Given the description of an element on the screen output the (x, y) to click on. 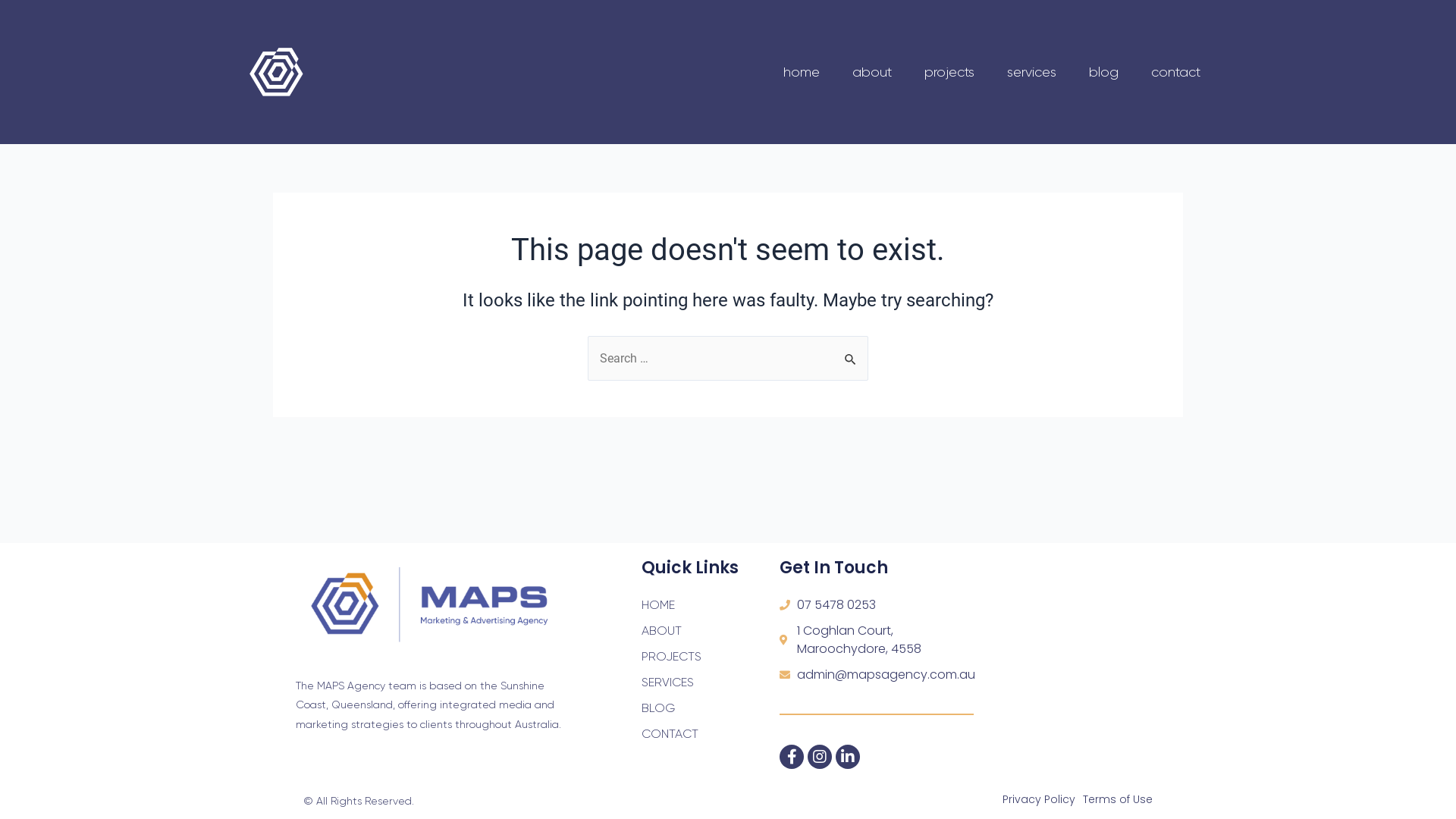
SERVICES Element type: text (710, 682)
Facebook-f Element type: text (791, 756)
Linkedin-in Element type: text (847, 756)
BLOG Element type: text (710, 708)
HOME Element type: text (710, 605)
home Element type: text (801, 71)
Instagram Element type: text (819, 756)
CONTACT Element type: text (710, 733)
ABOUT Element type: text (710, 630)
admin@mapsagency.com.au Element type: text (876, 674)
Privacy Policy Element type: text (1038, 799)
services Element type: text (1031, 71)
Search Element type: text (851, 351)
PROJECTS Element type: text (710, 656)
07 5478 0253 Element type: text (876, 605)
Terms of Use Element type: text (1117, 799)
about Element type: text (871, 71)
blog Element type: text (1103, 71)
projects Element type: text (949, 71)
contact Element type: text (1175, 71)
